Given the description of an element on the screen output the (x, y) to click on. 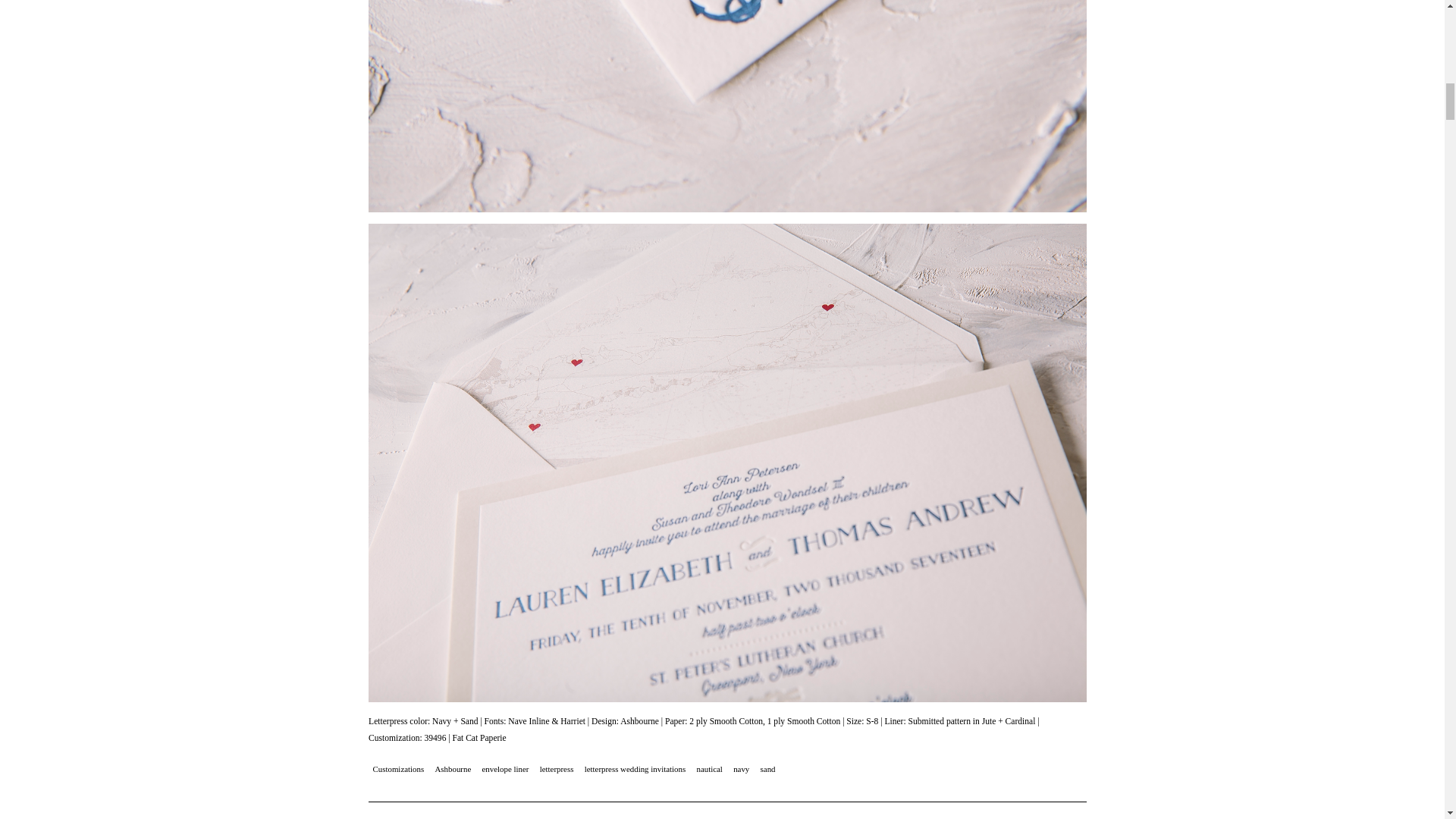
View all posts tagged with "envelope liner" (504, 769)
View all posts tagged with "sand" (766, 769)
View all posts tagged with "letterpress" (556, 769)
View all posts in the category "Customizations" (398, 769)
nautical (709, 769)
View all posts tagged with "Ashbourne" (453, 769)
View all posts tagged with "navy" (741, 769)
envelope liner (504, 769)
View all posts tagged with "letterpress wedding invitations" (633, 769)
Fat Cat Paperie (478, 737)
letterpress wedding invitations (633, 769)
Ashbourne (453, 769)
View all posts tagged with "nautical" (709, 769)
Customizations (398, 769)
letterpress (556, 769)
